Given the description of an element on the screen output the (x, y) to click on. 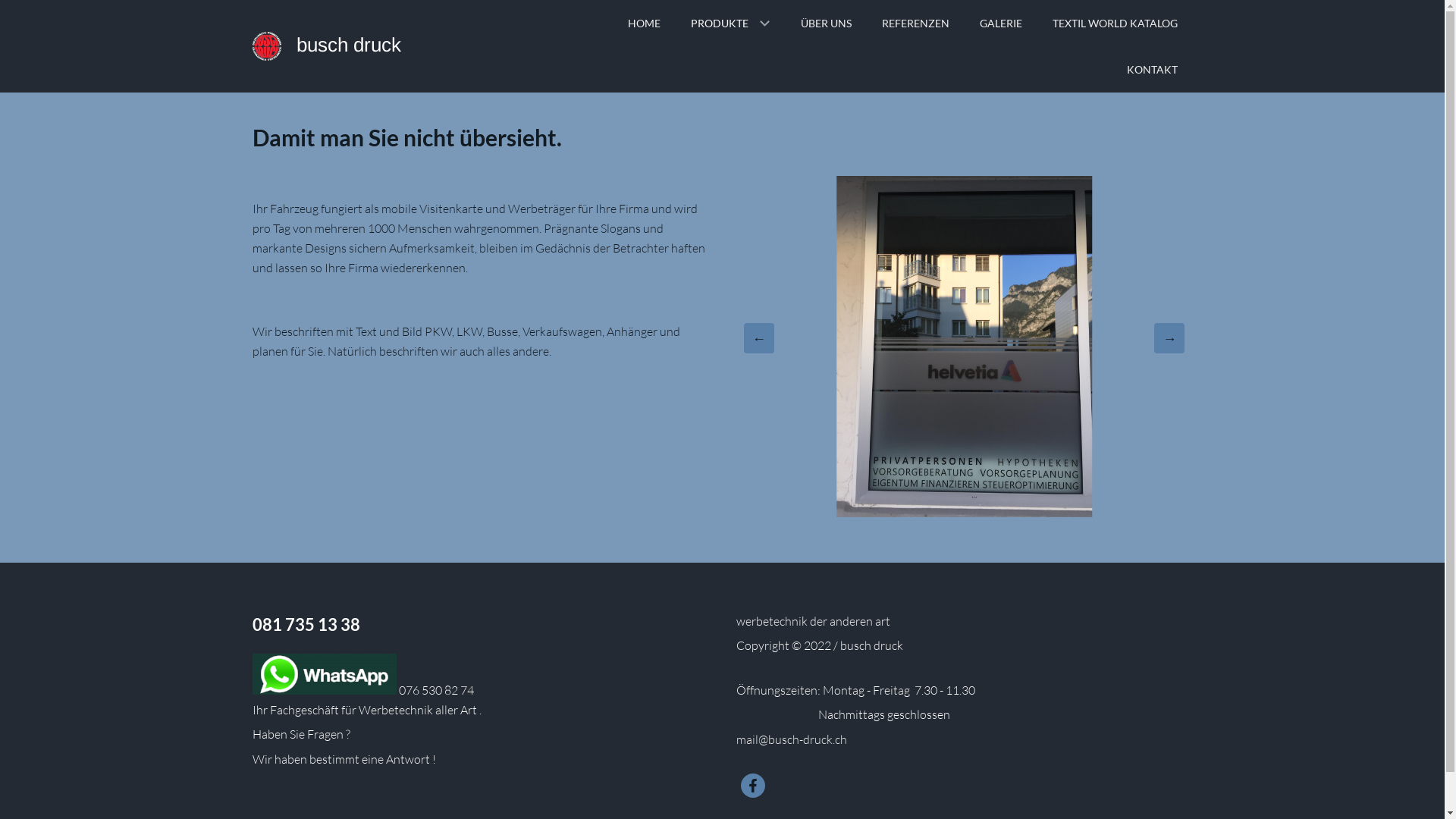
mail@busch-druck.ch Element type: text (791, 738)
GALERIE Element type: text (1000, 23)
KONTAKT Element type: text (1151, 69)
REFERENZEN Element type: text (914, 23)
busch druck Element type: text (347, 44)
TEXTIL WORLD KATALOG Element type: text (1114, 23)
FACEBOOK Element type: text (752, 785)
HOME Element type: text (643, 23)
